Given the description of an element on the screen output the (x, y) to click on. 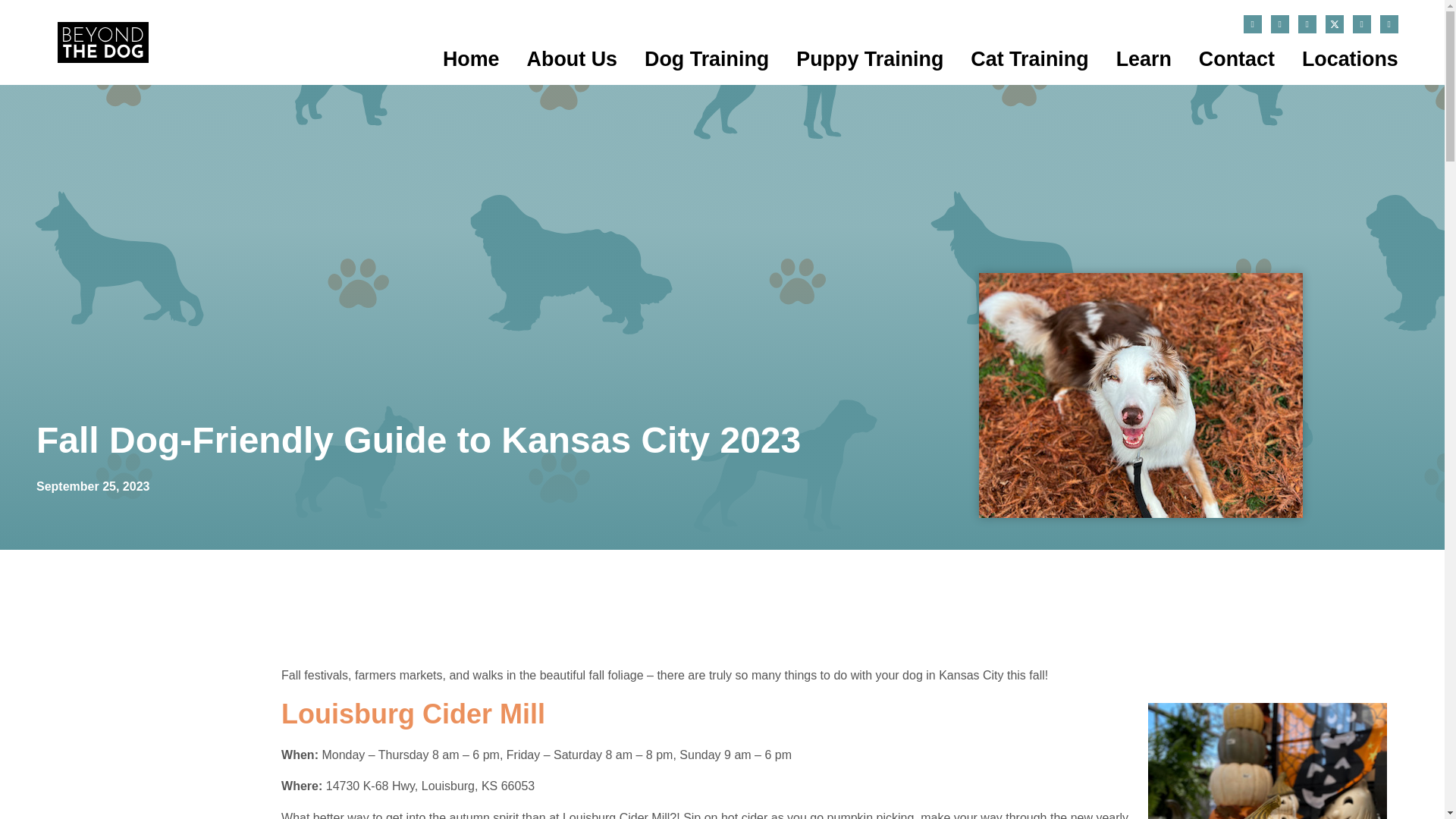
Cat Training (1029, 59)
About Us (572, 59)
Contact (1236, 59)
Home (470, 59)
Learn (1144, 59)
Puppy Training (869, 59)
Dog Training (706, 59)
